Given the description of an element on the screen output the (x, y) to click on. 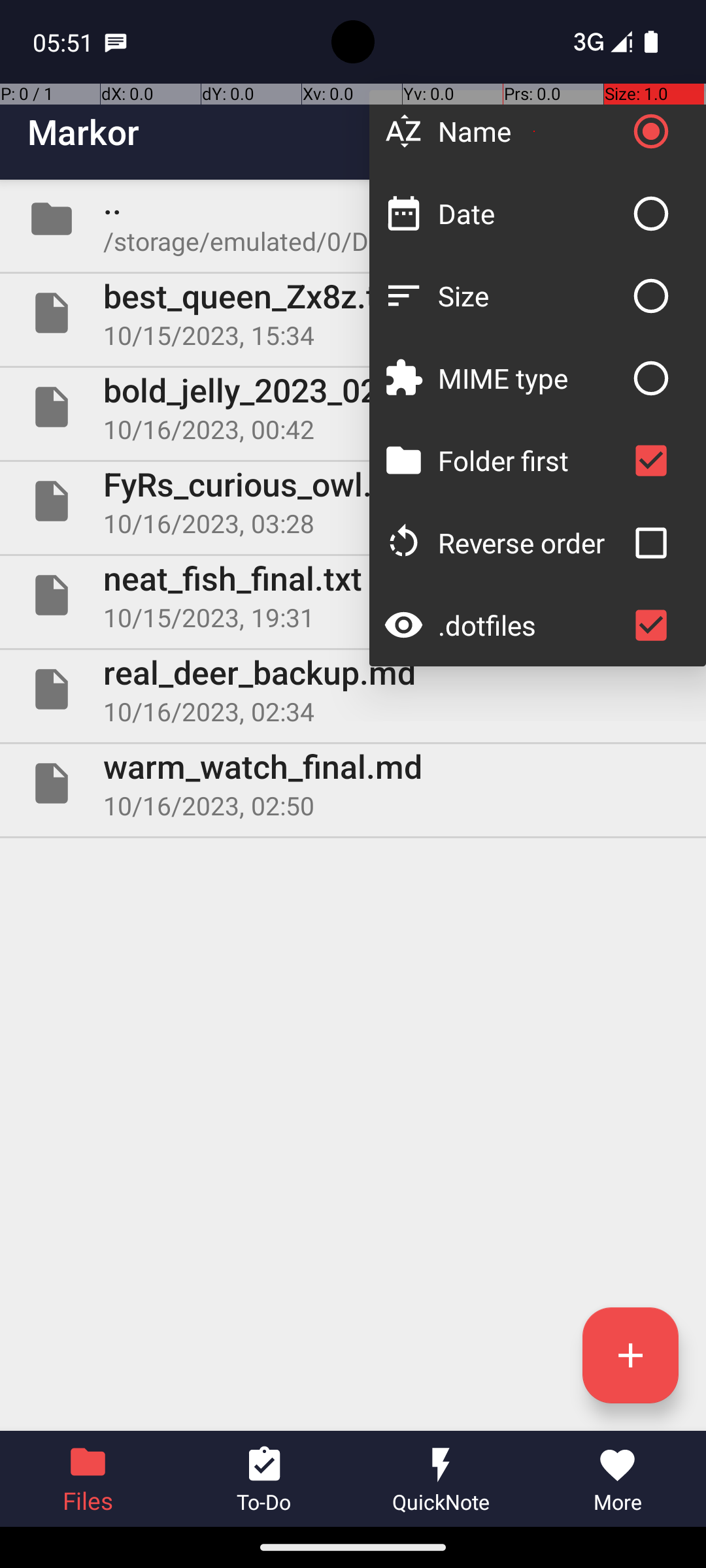
Size Element type: android.widget.TextView (530, 295)
MIME type Element type: android.widget.TextView (530, 377)
Folder first Element type: android.widget.TextView (530, 459)
Reverse order Element type: android.widget.TextView (530, 542)
.dotfiles Element type: android.widget.TextView (530, 624)
05:51 Element type: android.widget.TextView (64, 41)
